Given the description of an element on the screen output the (x, y) to click on. 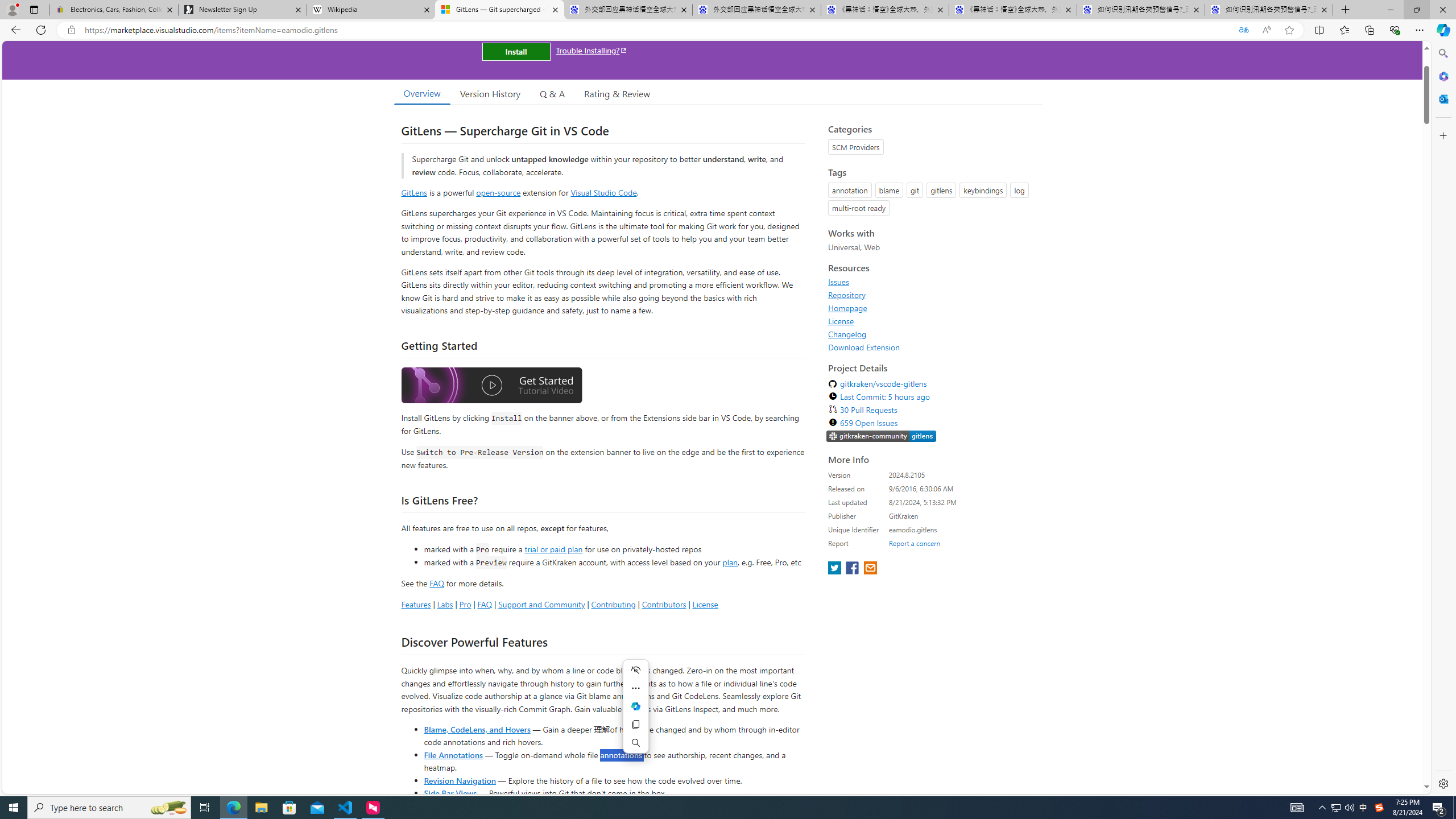
Copy (635, 724)
Changelog (847, 333)
share extension on twitter (835, 568)
Install (515, 51)
Support and Community (541, 603)
Overview (421, 92)
Contributing (613, 603)
plan (730, 562)
Blame, CodeLens, and Hovers (476, 728)
File Annotations (453, 754)
Version History (489, 92)
share extension on email (869, 568)
